Given the description of an element on the screen output the (x, y) to click on. 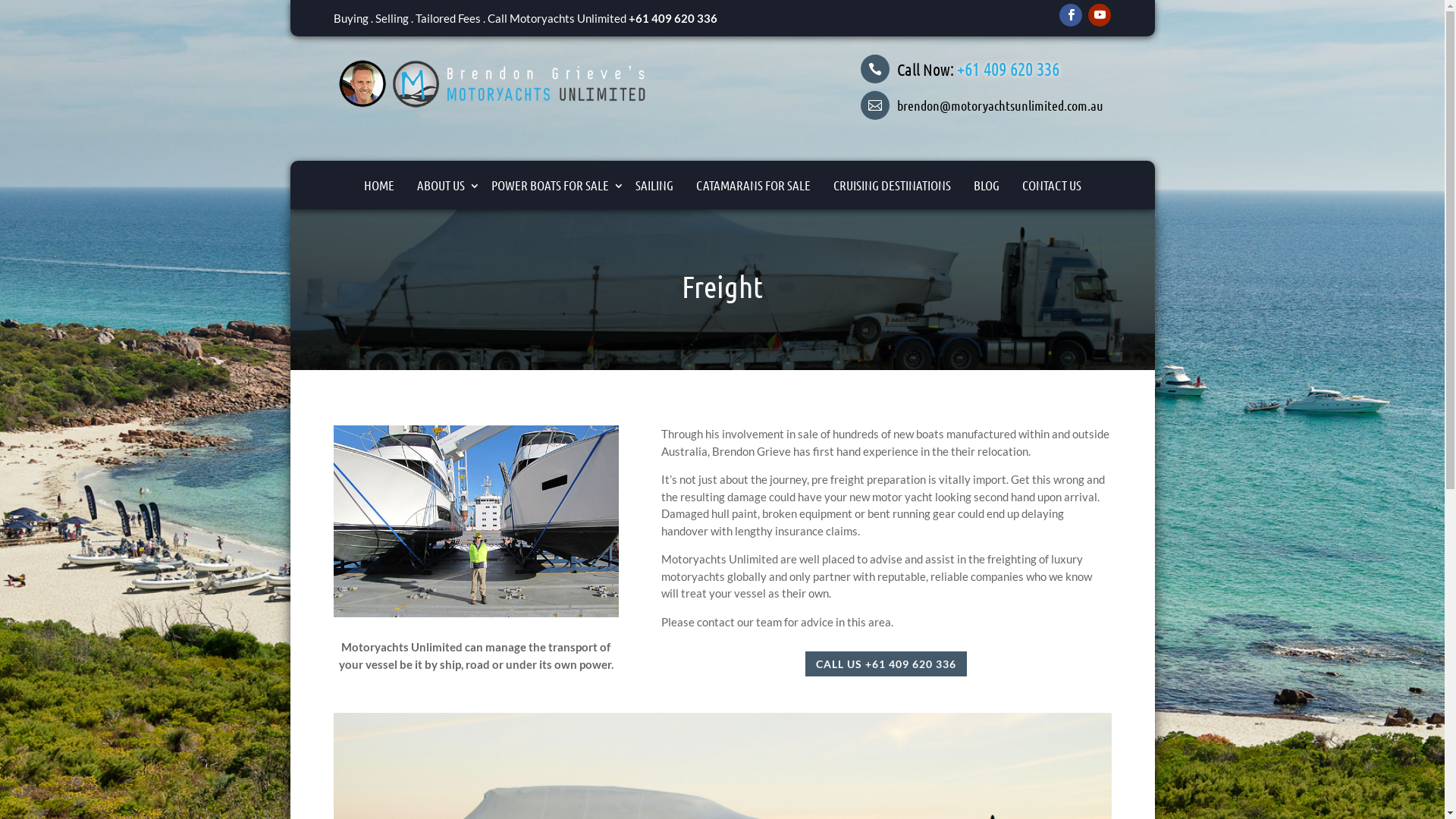
Boat-freight-motor-yachts Element type: hover (476, 521)
CATAMARANS FOR SALE Element type: text (752, 184)
Follow on Youtube Element type: hover (1099, 14)
HOME Element type: text (377, 184)
Motoryachts Unlimited Element type: hover (493, 83)
ABOUT US Element type: text (441, 184)
+61 409 620 336 Element type: text (1008, 68)
+61 409 620 336 Element type: text (671, 18)
POWER BOATS FOR SALE Element type: text (551, 184)
CRUISING DESTINATIONS Element type: text (892, 184)
SAILING Element type: text (653, 184)
CONTACT US Element type: text (1051, 184)
Follow on Facebook Element type: hover (1070, 14)
CALL US +61 409 620 336 Element type: text (885, 663)
BLOG Element type: text (985, 184)
